Given the description of an element on the screen output the (x, y) to click on. 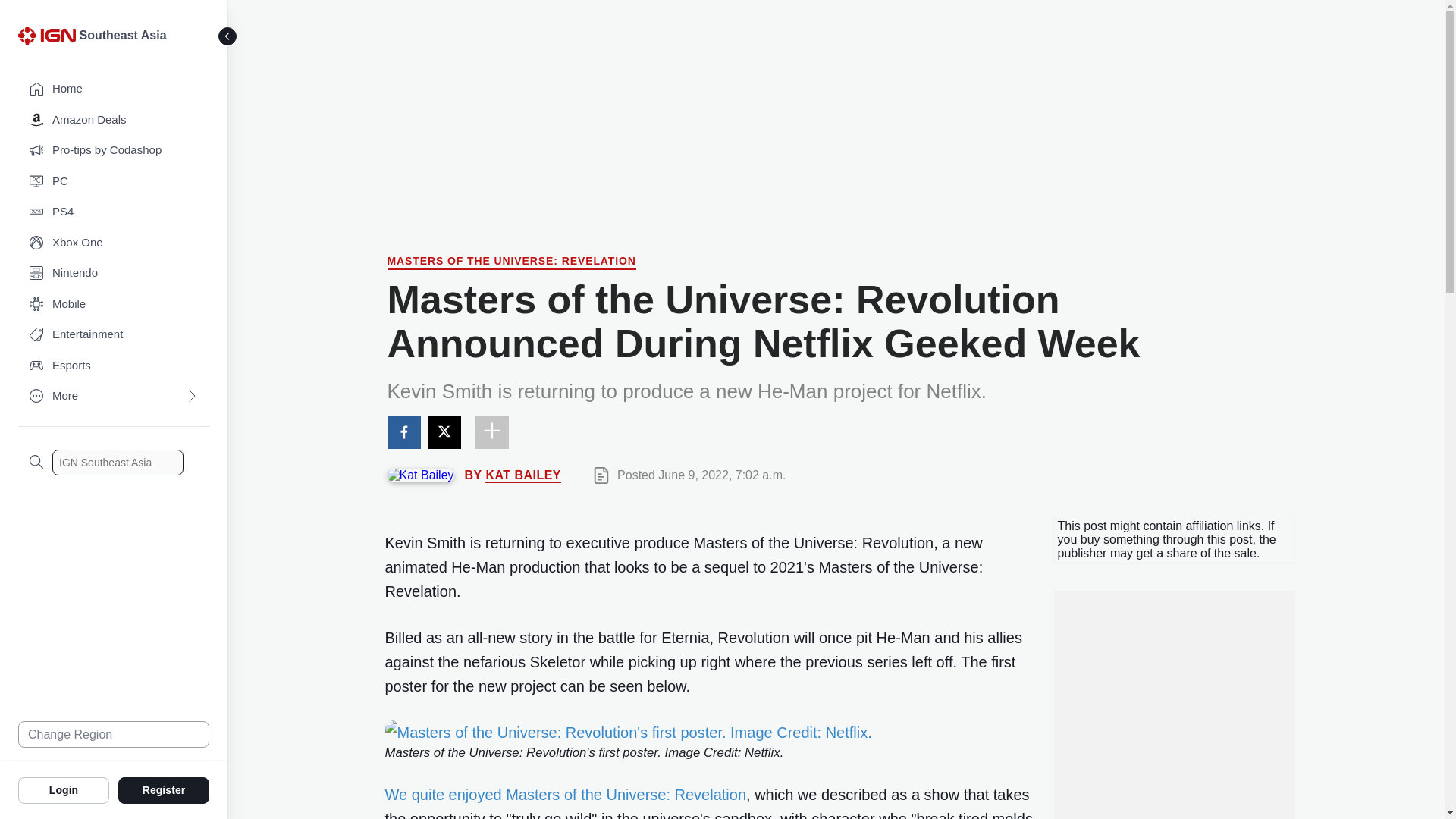
PS4 (113, 211)
Nintendo (113, 273)
Mobile (113, 304)
Entertainment (113, 334)
More (113, 396)
Pro-tips by Codashop (113, 150)
Esports (113, 365)
Amazon Deals (113, 119)
KAT BAILEY (522, 474)
MASTERS OF THE UNIVERSE: REVELATION (510, 262)
Register (163, 789)
PC (113, 181)
IGN Logo (48, 39)
Xbox One (113, 242)
IGN Logo (46, 34)
